Given the description of an element on the screen output the (x, y) to click on. 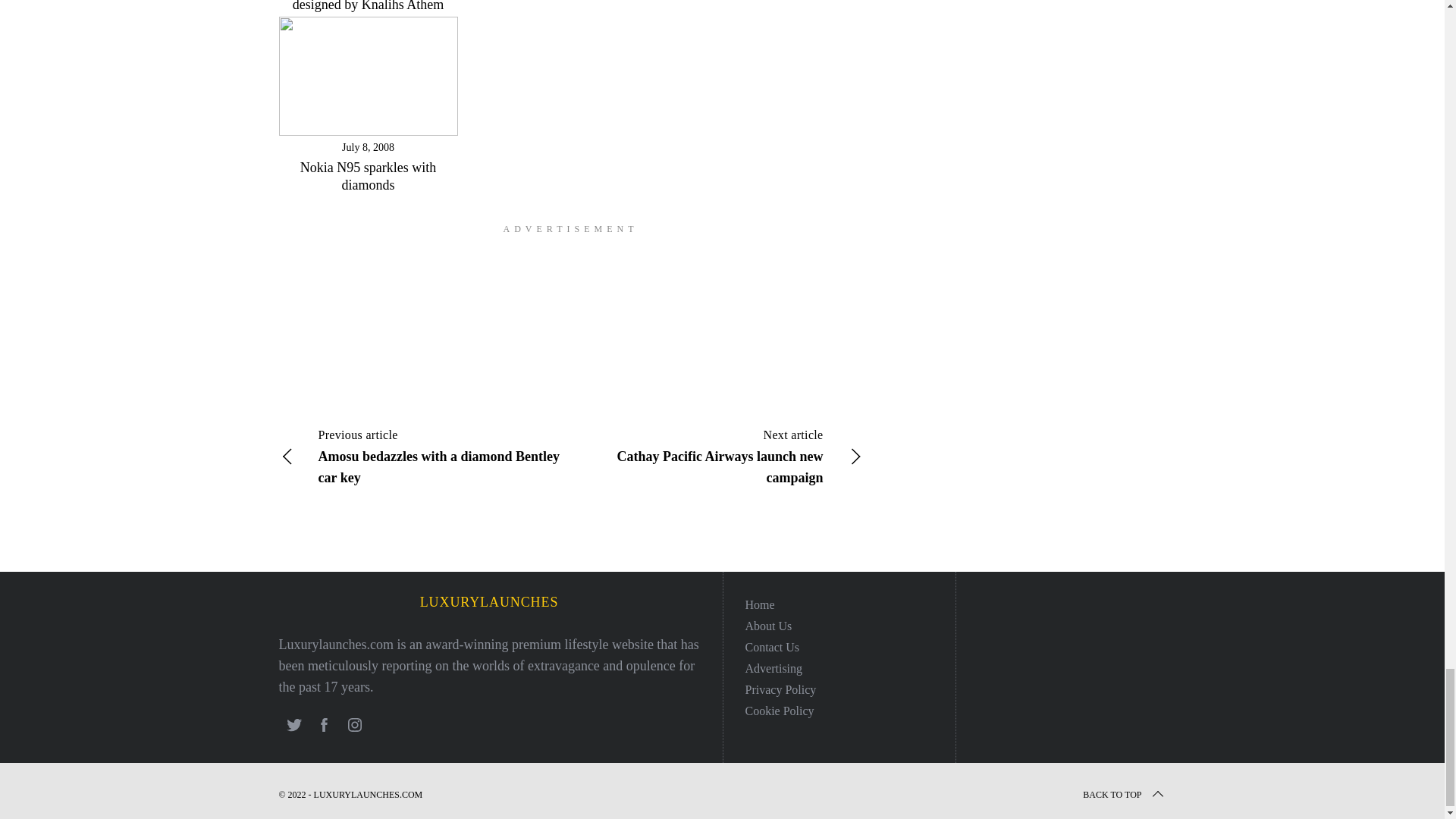
Privacy Policy (779, 689)
About Us (768, 625)
Contact us (771, 646)
Cookie Policy (778, 710)
Home (759, 604)
Advertising (773, 667)
